Given the description of an element on the screen output the (x, y) to click on. 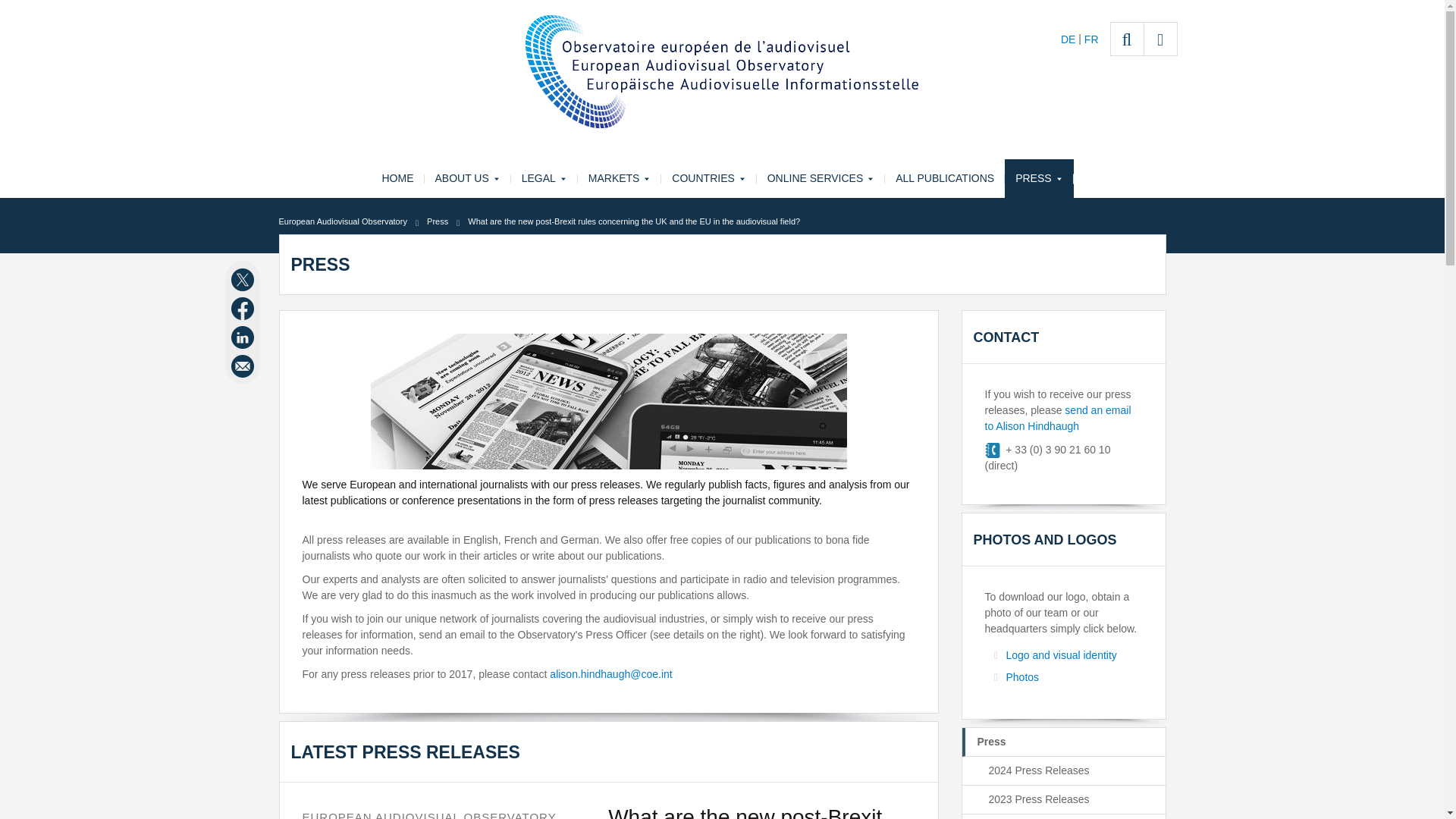
Share on Facebook (244, 308)
Send this page (244, 365)
FR (1091, 39)
ABOUT US (468, 178)
LEGAL (544, 178)
DE (1069, 39)
HOME (398, 178)
Share on Linkedin (244, 336)
